Given the description of an element on the screen output the (x, y) to click on. 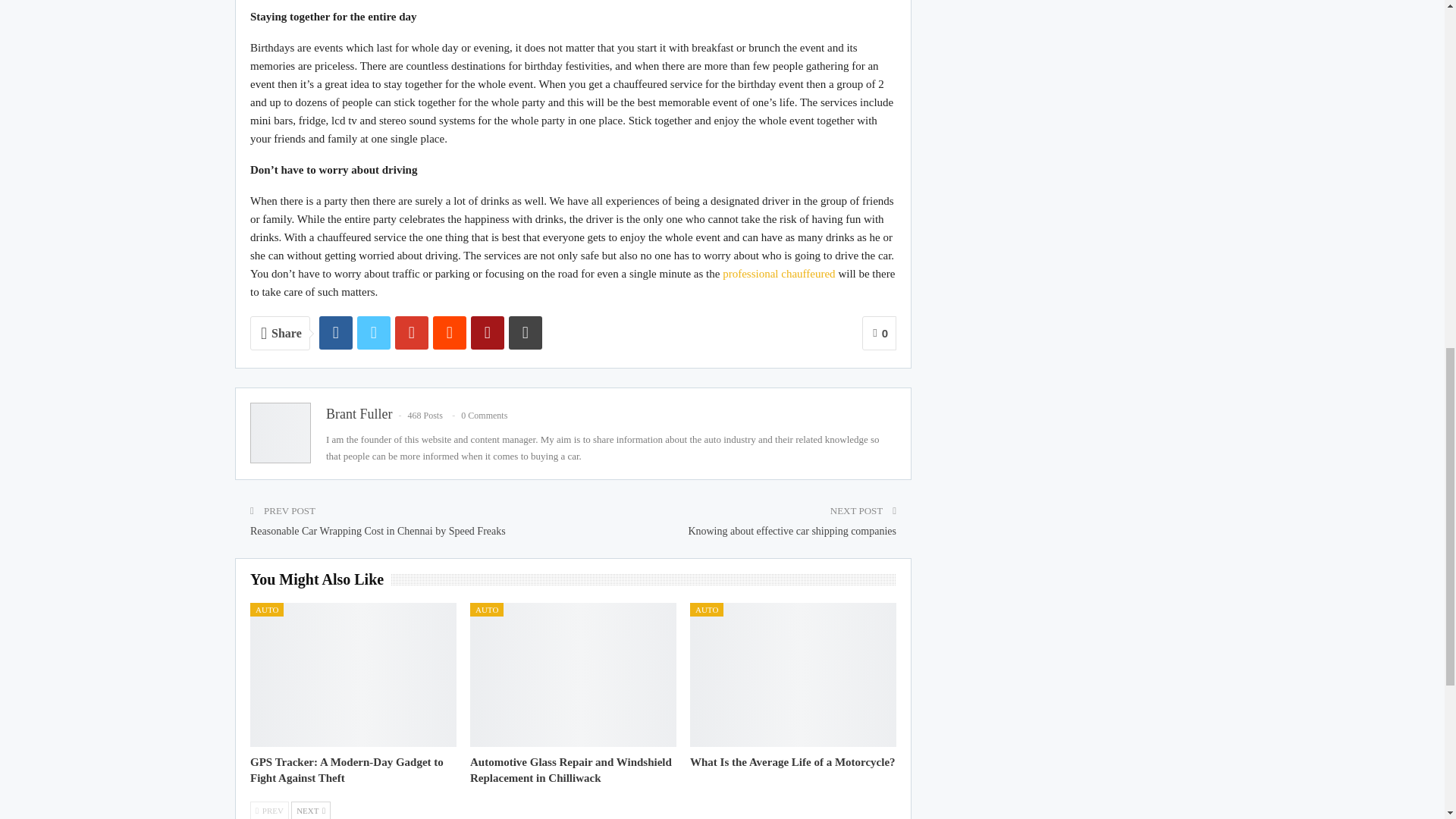
Next (310, 810)
You Might Also Like (320, 580)
professional chauffeured (778, 273)
GPS Tracker: A Modern-Day Gadget to Fight Against Theft (347, 769)
What Is the Average Life of a Motorcycle? (793, 674)
Knowing about effective car shipping companies (791, 531)
Brant Fuller (359, 413)
What Is the Average Life of a Motorcycle? (792, 761)
Previous (269, 810)
GPS Tracker: A Modern-Day Gadget to Fight Against Theft (353, 674)
Reasonable Car Wrapping Cost in Chennai by Speed Freaks (377, 531)
0 (878, 333)
AUTO (266, 609)
